Given the description of an element on the screen output the (x, y) to click on. 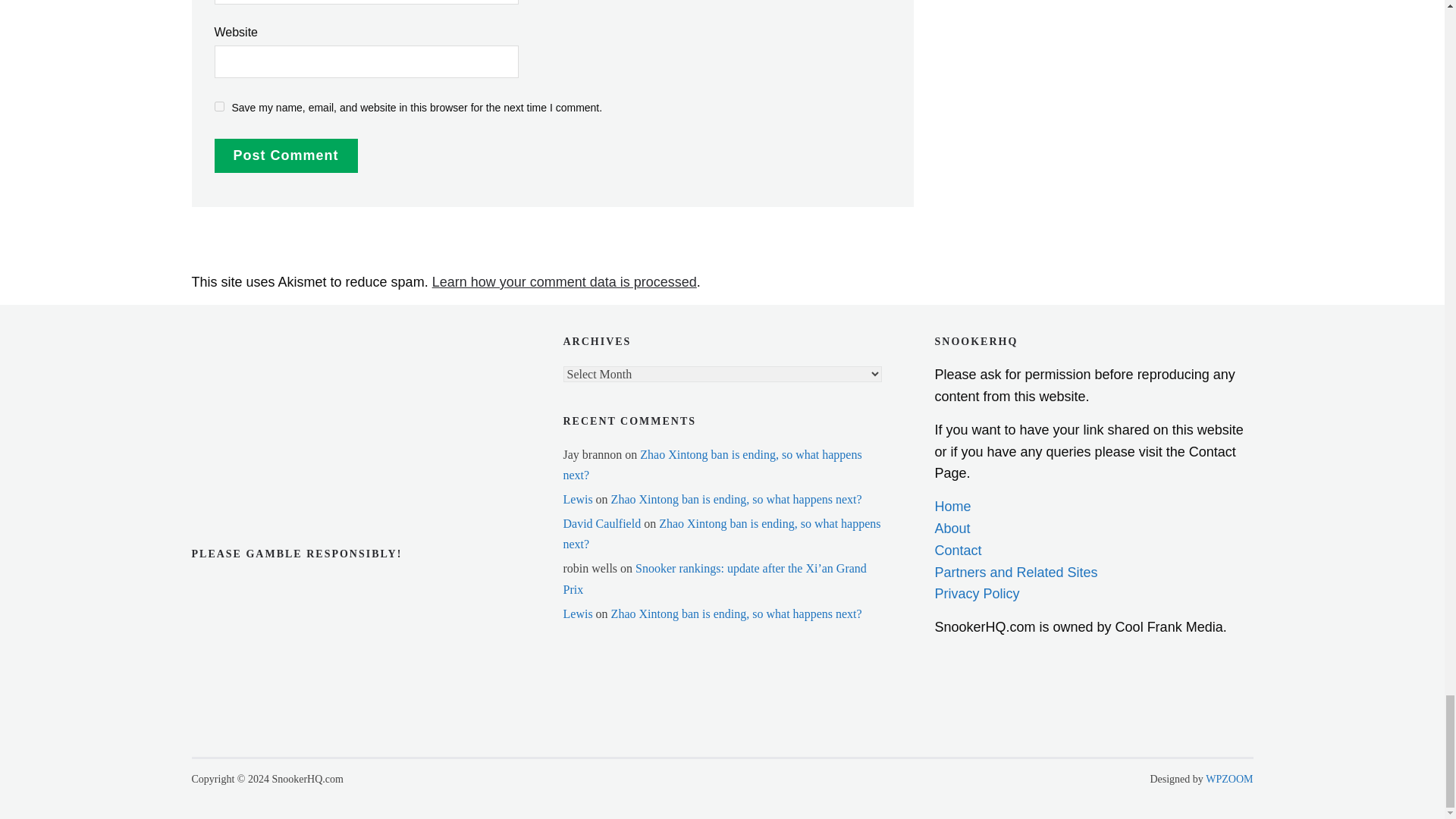
nongamstopbets-sports-betting (266, 390)
Post Comment (285, 155)
yes (219, 106)
non-gamstop-betting-sites (266, 436)
ngc-uk-betting-sites-not-on-gamstop (266, 345)
